Given the description of an element on the screen output the (x, y) to click on. 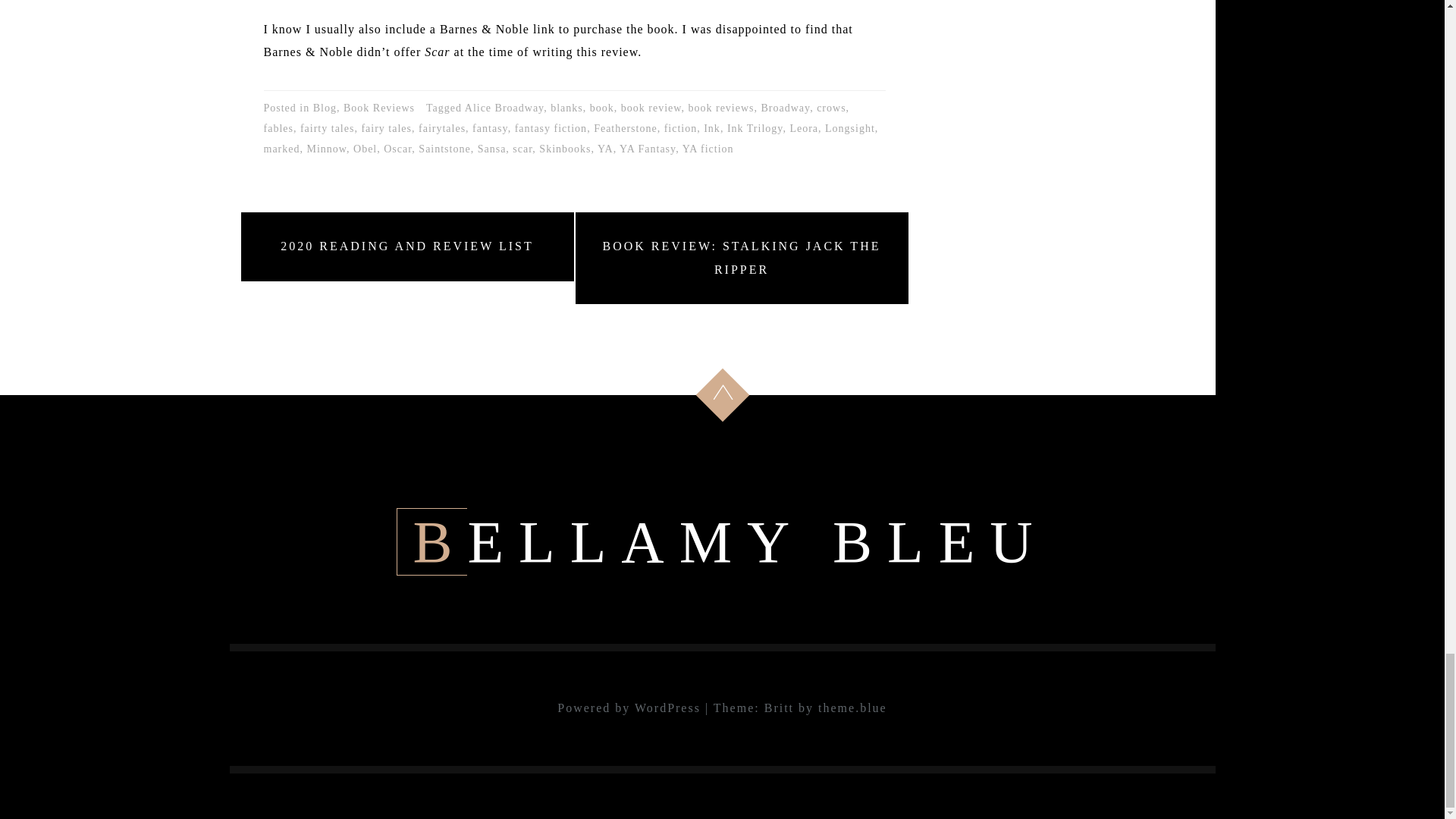
fairy tales (386, 128)
Minnow (325, 148)
Ink Trilogy (754, 128)
crows (830, 107)
Blog (324, 107)
Obel (365, 148)
Leora (803, 128)
book (601, 107)
Book Reviews (378, 107)
fables (278, 128)
blanks (566, 107)
book reviews (720, 107)
fairty tales (326, 128)
Broadway (785, 107)
Featherstone (626, 128)
